Given the description of an element on the screen output the (x, y) to click on. 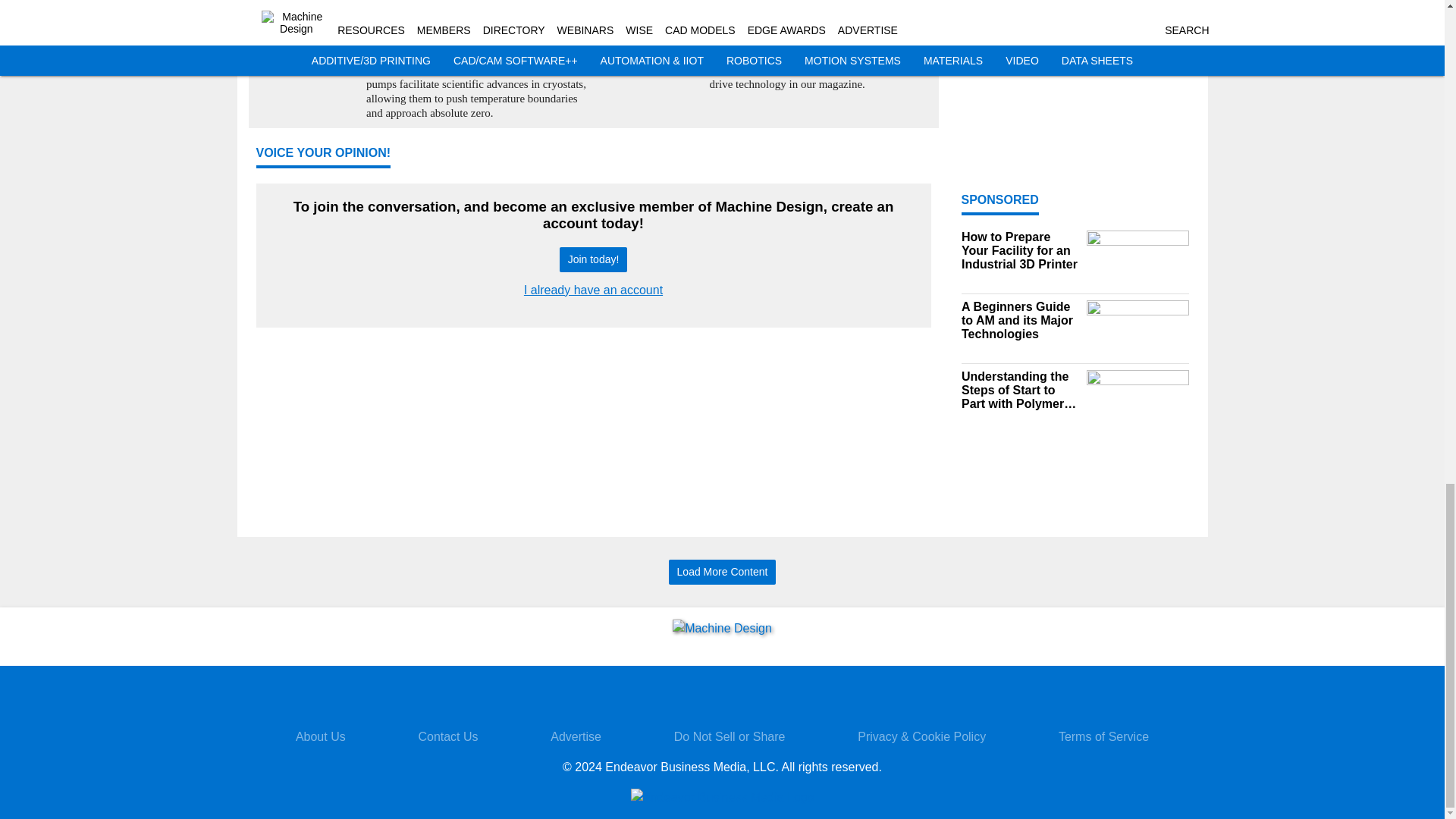
Join today! (593, 259)
I already have an account (593, 289)
The entire spectrum of drive technology (820, 19)
Pumps Push the Boundaries of Low Temperature Technology (476, 19)
